Given the description of an element on the screen output the (x, y) to click on. 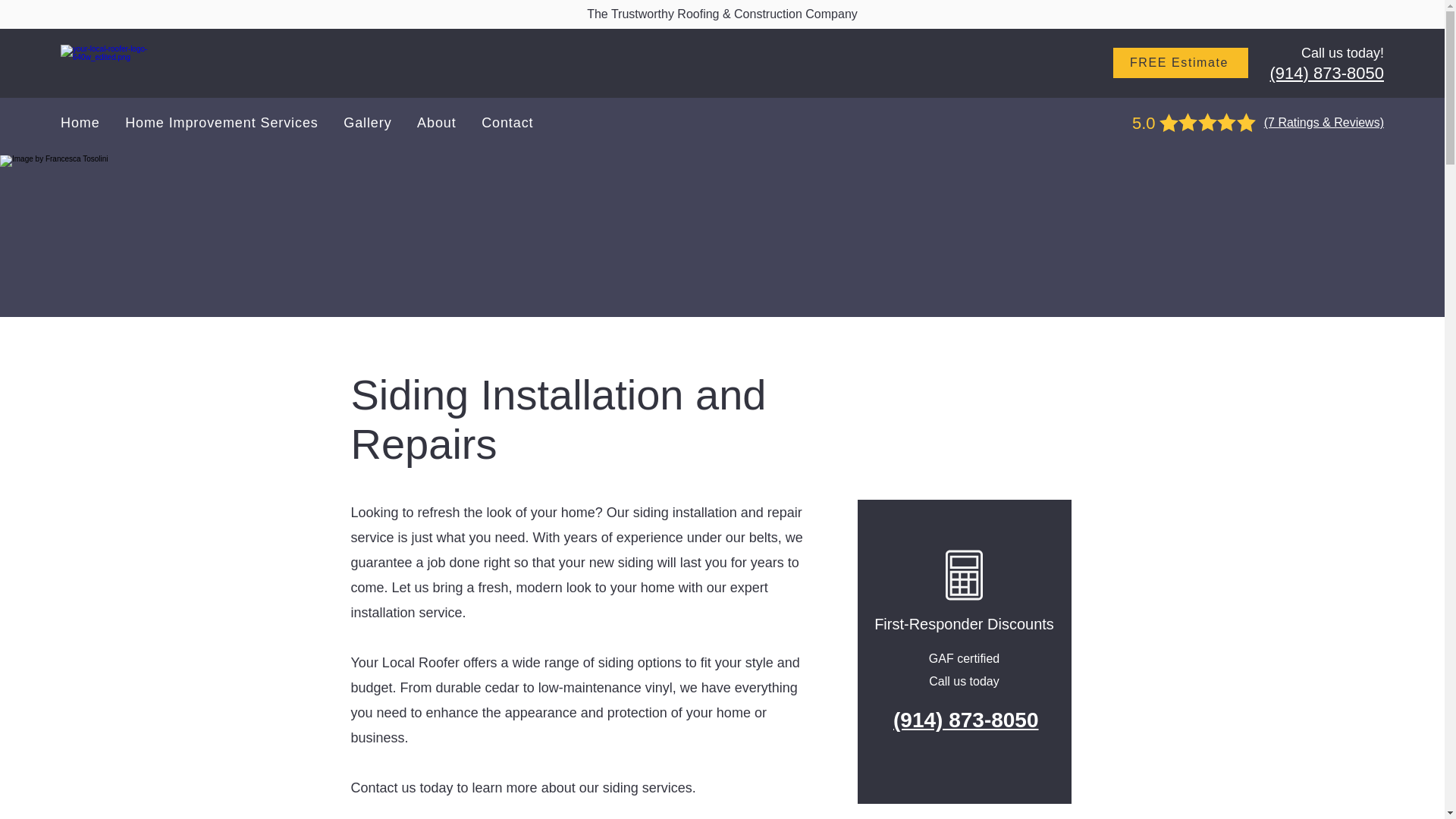
FREE Estimate (1180, 62)
Home (90, 122)
About (446, 122)
Contact (517, 122)
5.0 (1144, 122)
Gallery (376, 122)
